Given the description of an element on the screen output the (x, y) to click on. 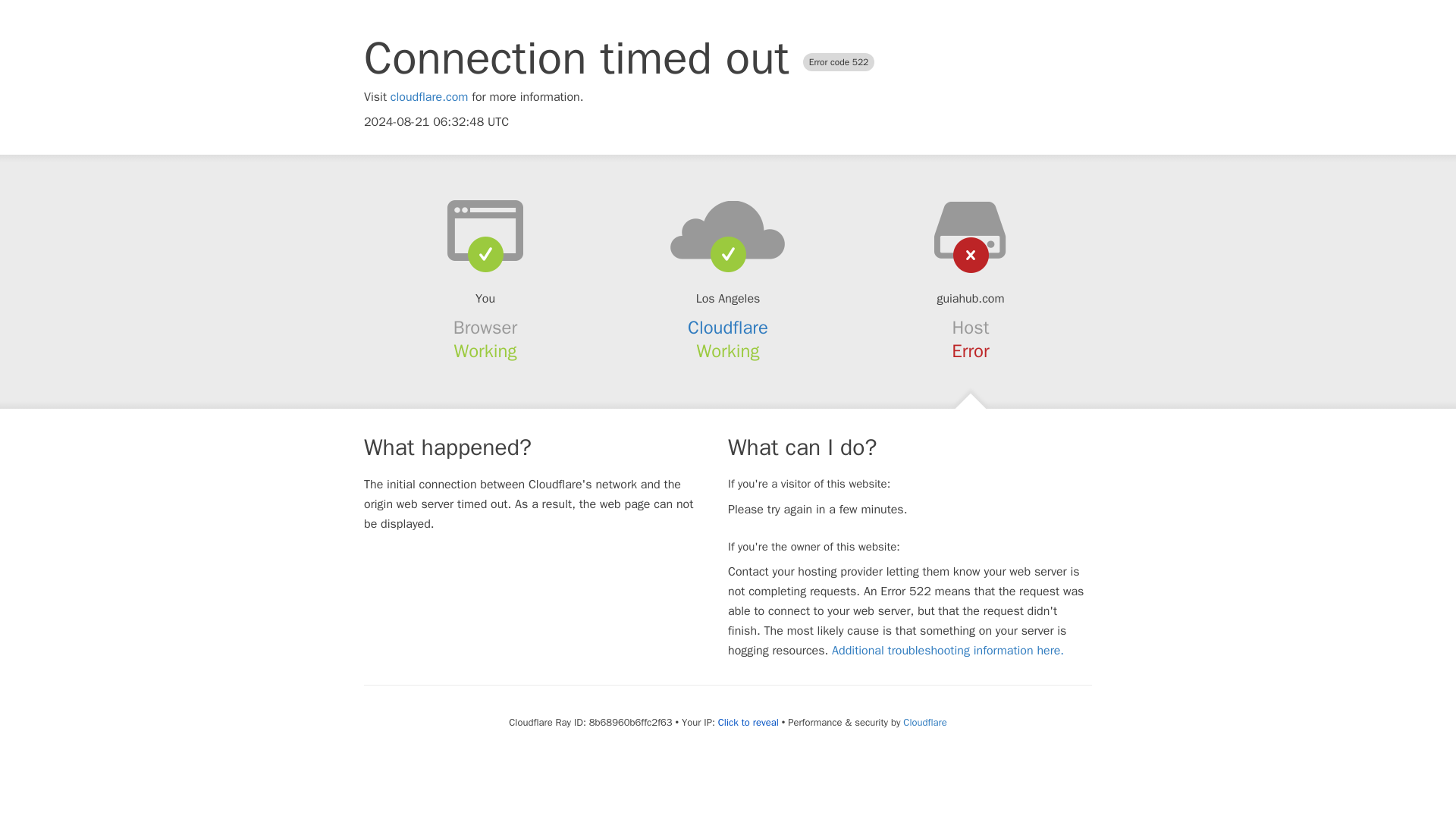
cloudflare.com (429, 96)
Cloudflare (727, 327)
Click to reveal (747, 722)
Additional troubleshooting information here. (947, 650)
Cloudflare (924, 721)
